Given the description of an element on the screen output the (x, y) to click on. 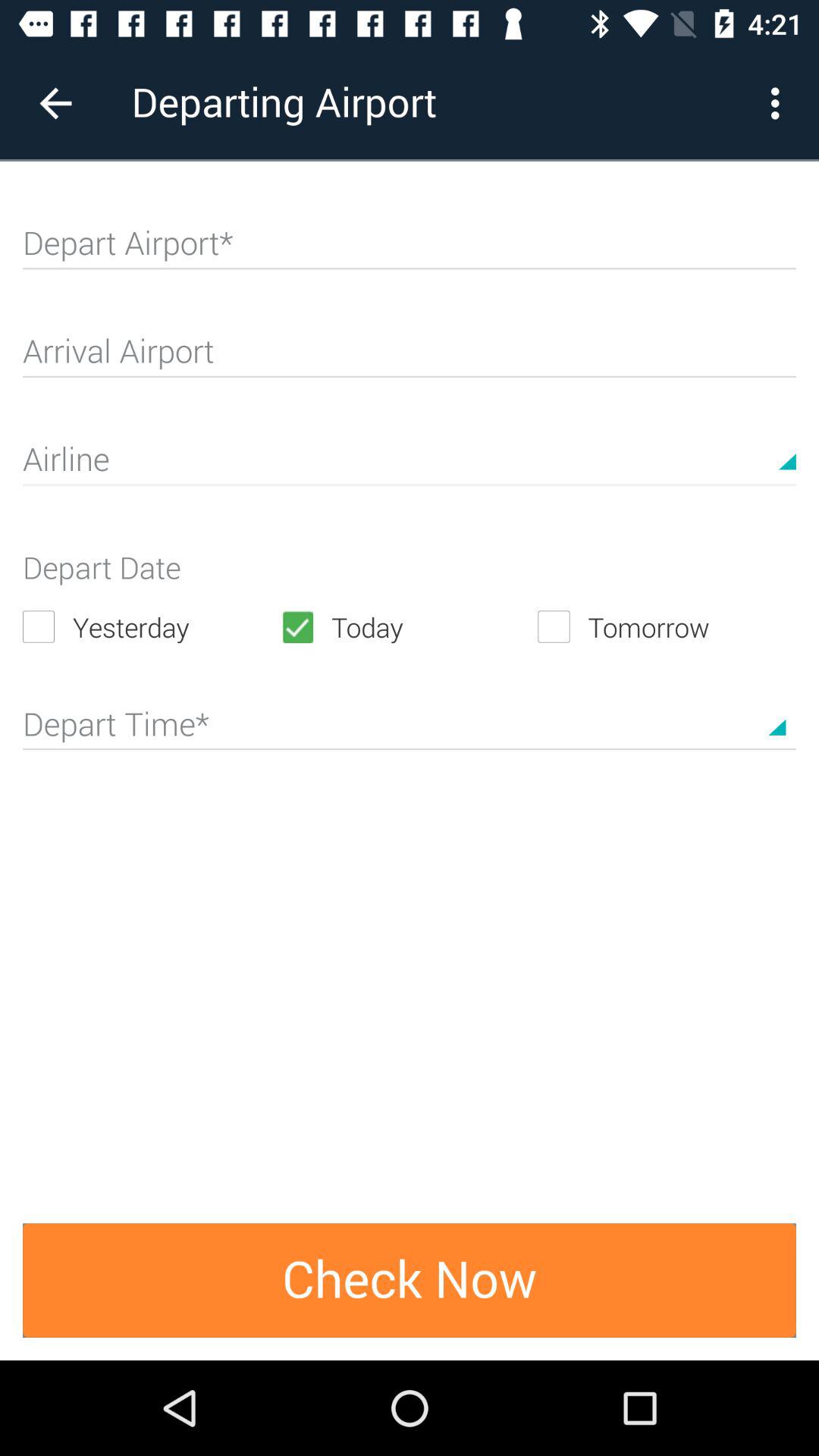
turn off the icon at the top left corner (55, 103)
